Given the description of an element on the screen output the (x, y) to click on. 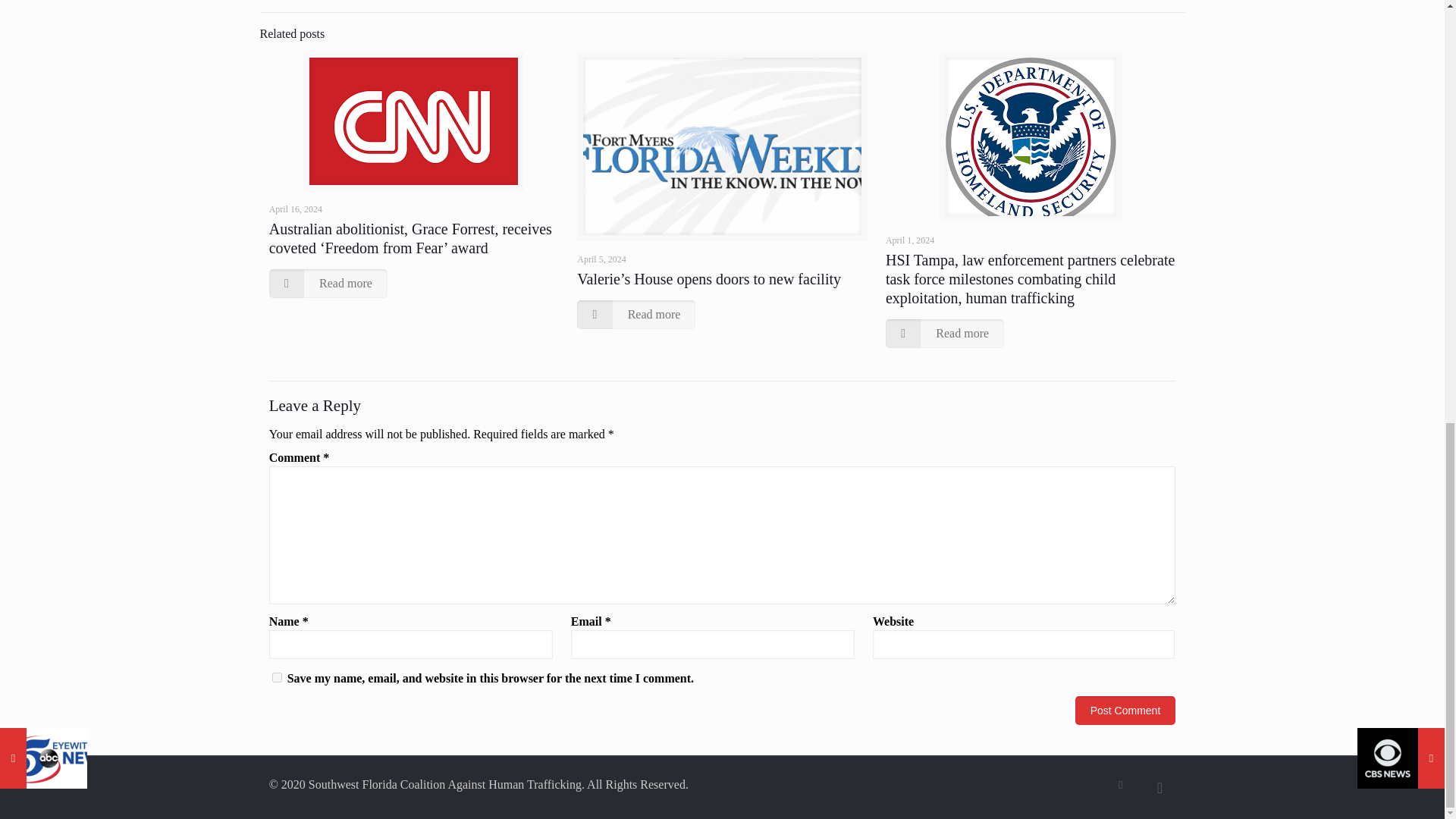
Read more (635, 314)
Read more (328, 283)
yes (277, 677)
Facebook (1120, 784)
Post Comment (1125, 710)
